Given the description of an element on the screen output the (x, y) to click on. 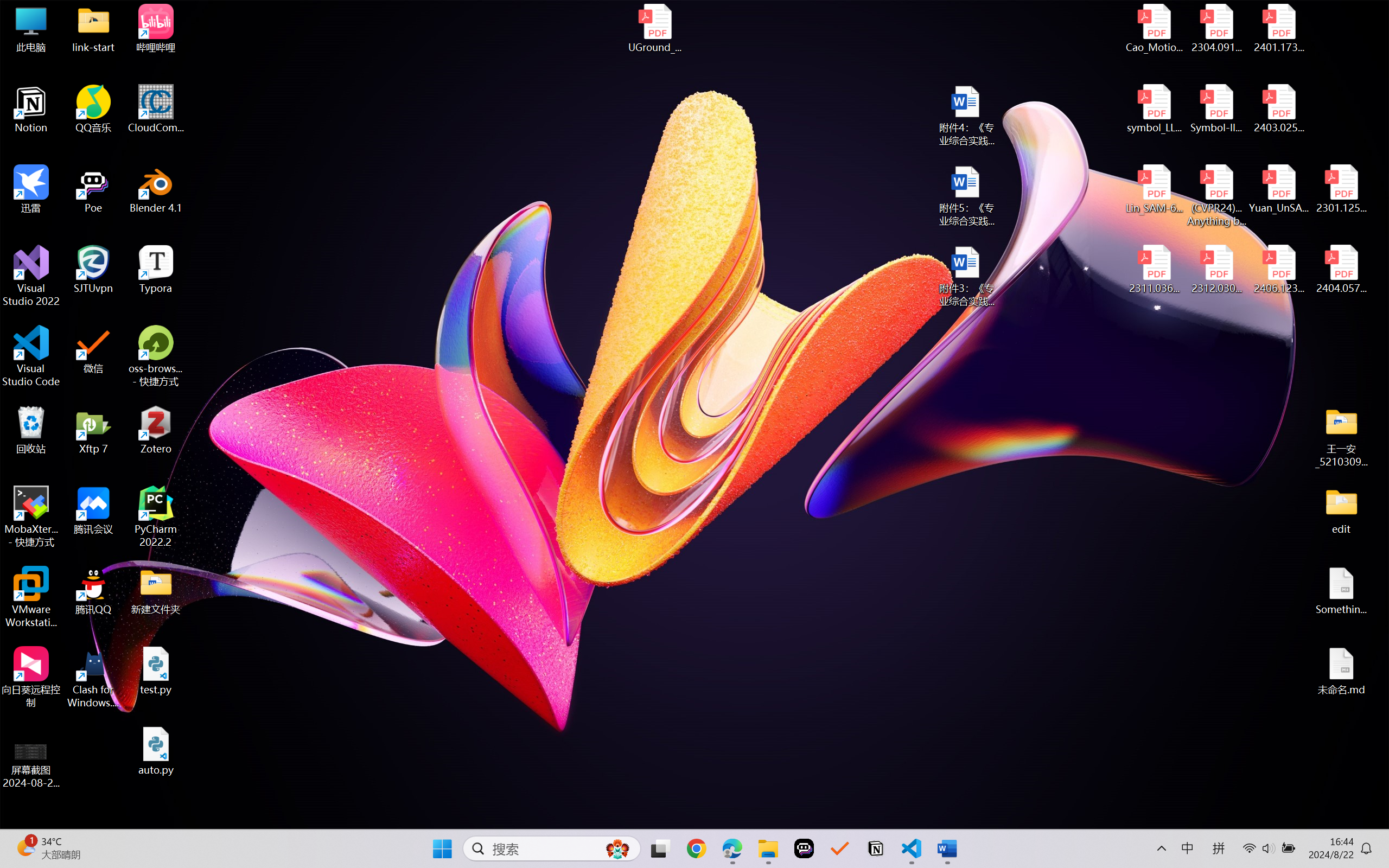
2301.12597v3.pdf (1340, 189)
symbol_LLM.pdf (1154, 109)
2304.09121v3.pdf (1216, 28)
Google Chrome (696, 848)
Visual Studio 2022 (31, 276)
